Given the description of an element on the screen output the (x, y) to click on. 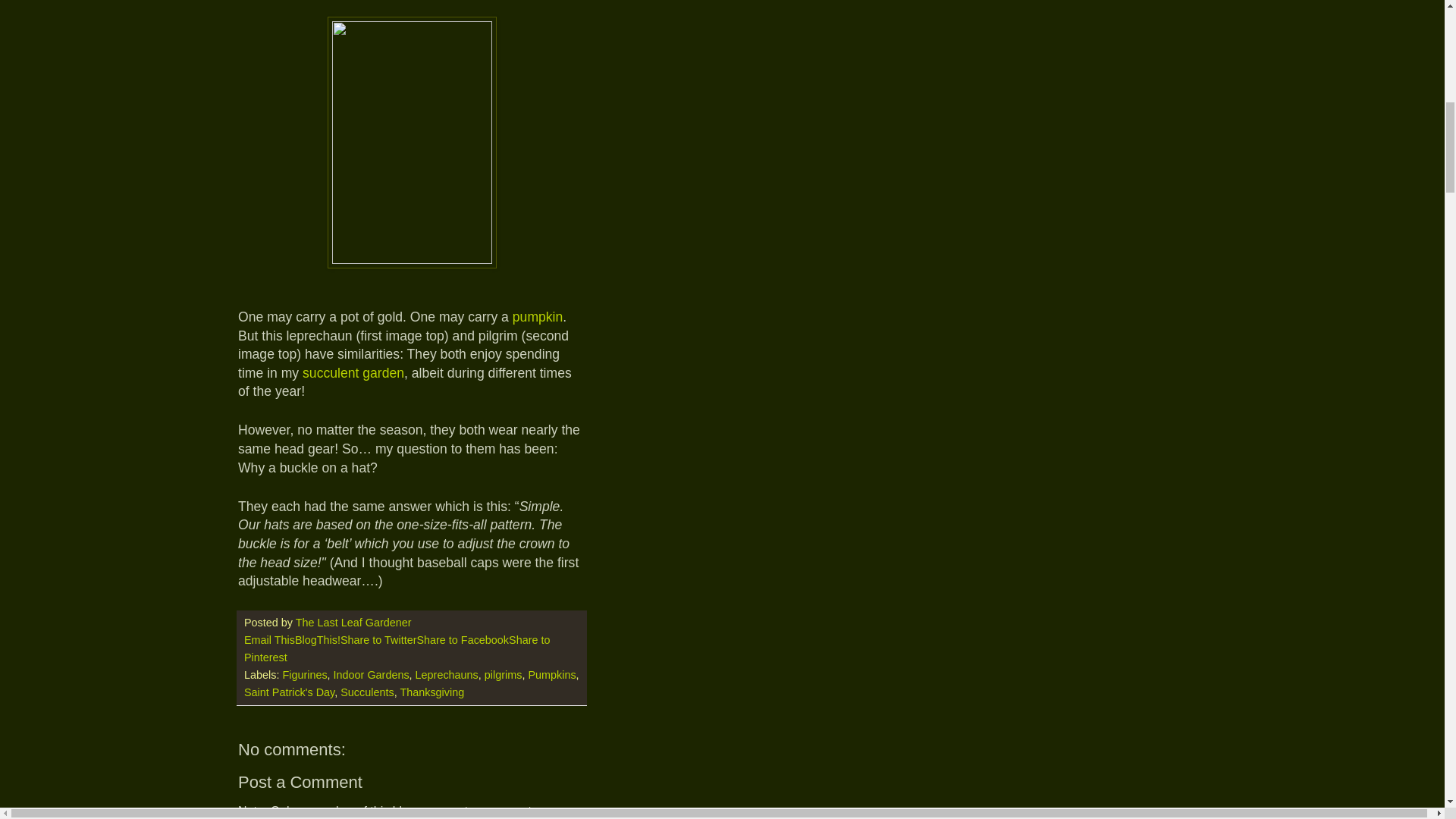
BlogThis! (317, 639)
Pumpkins (551, 674)
Succulents (366, 692)
Leprechauns (446, 674)
Saint Patrick's Day (289, 692)
The Last Leaf Gardener (354, 622)
Share to Pinterest (397, 648)
BlogThis! (317, 639)
Indoor Gardens (371, 674)
Email This (269, 639)
Share to Twitter (378, 639)
author profile (354, 622)
Email Post (421, 622)
Figurines (304, 674)
succulent garden (353, 372)
